Given the description of an element on the screen output the (x, y) to click on. 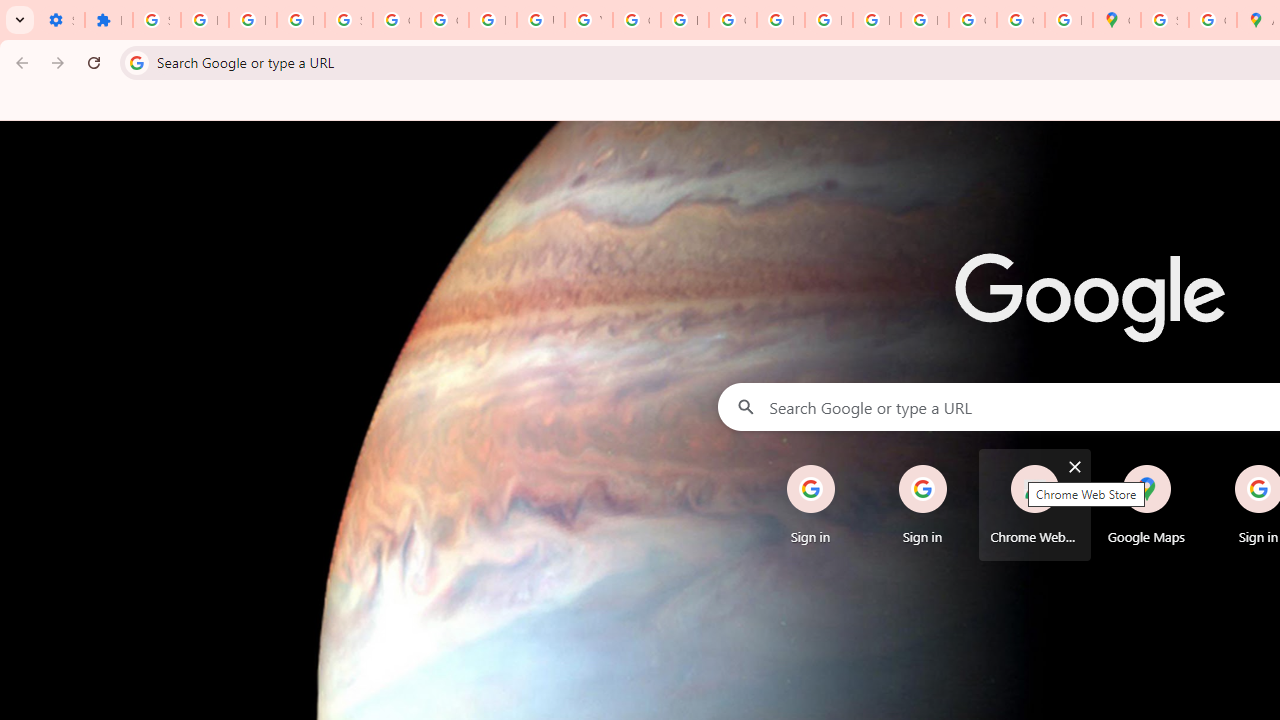
Google Account Help (396, 20)
Google Maps (1116, 20)
https://scholar.google.com/ (684, 20)
Create your Google Account (1212, 20)
Sign in - Google Accounts (348, 20)
